Given the description of an element on the screen output the (x, y) to click on. 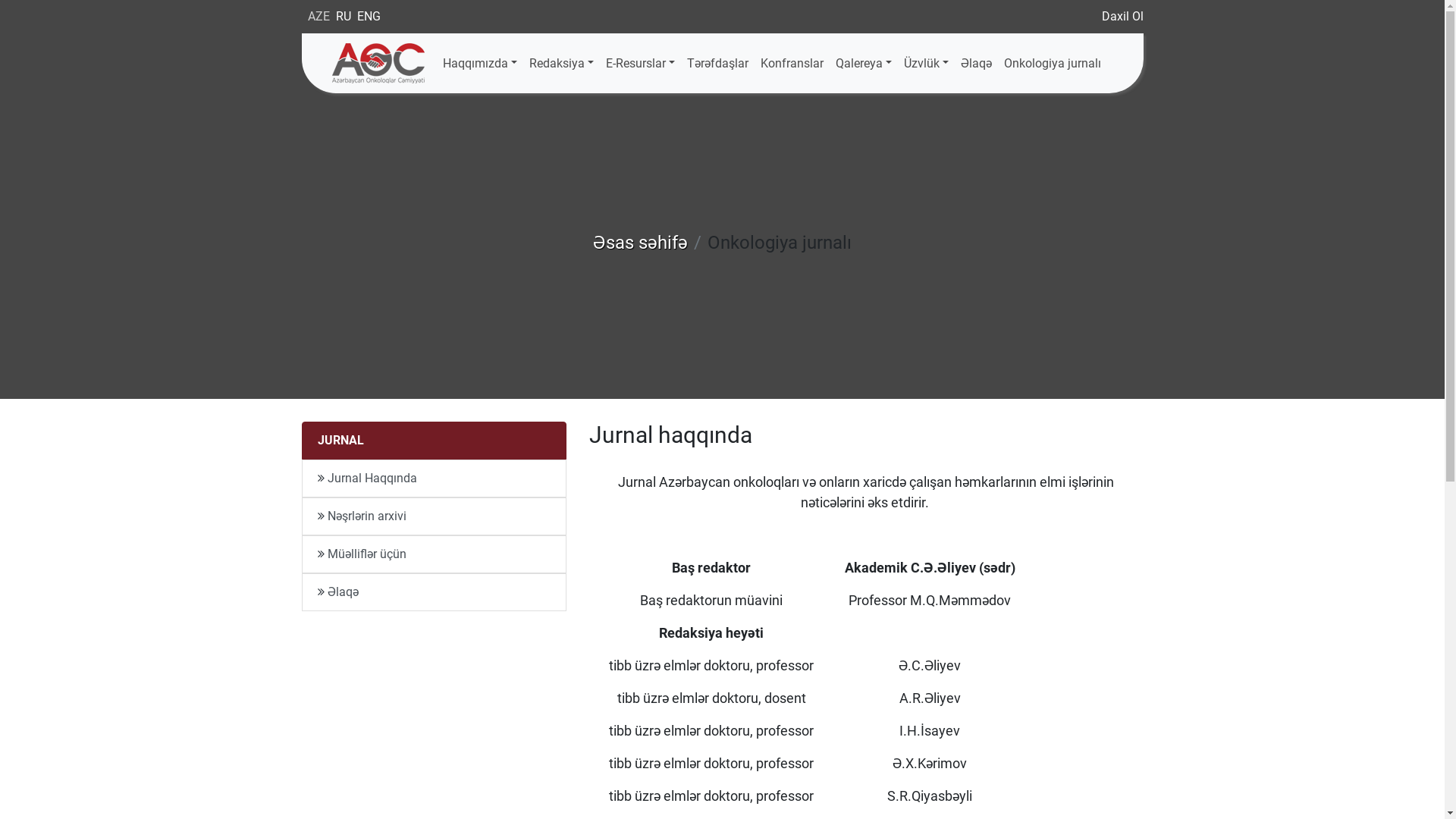
Qalereya Element type: text (863, 63)
Redaksiya Element type: text (561, 63)
Konfranslar Element type: text (791, 63)
Daxil Ol Element type: text (1121, 16)
RU Element type: text (342, 16)
E-Resurslar Element type: text (639, 63)
ENG Element type: text (367, 16)
AZE Element type: text (318, 16)
